Given the description of an element on the screen output the (x, y) to click on. 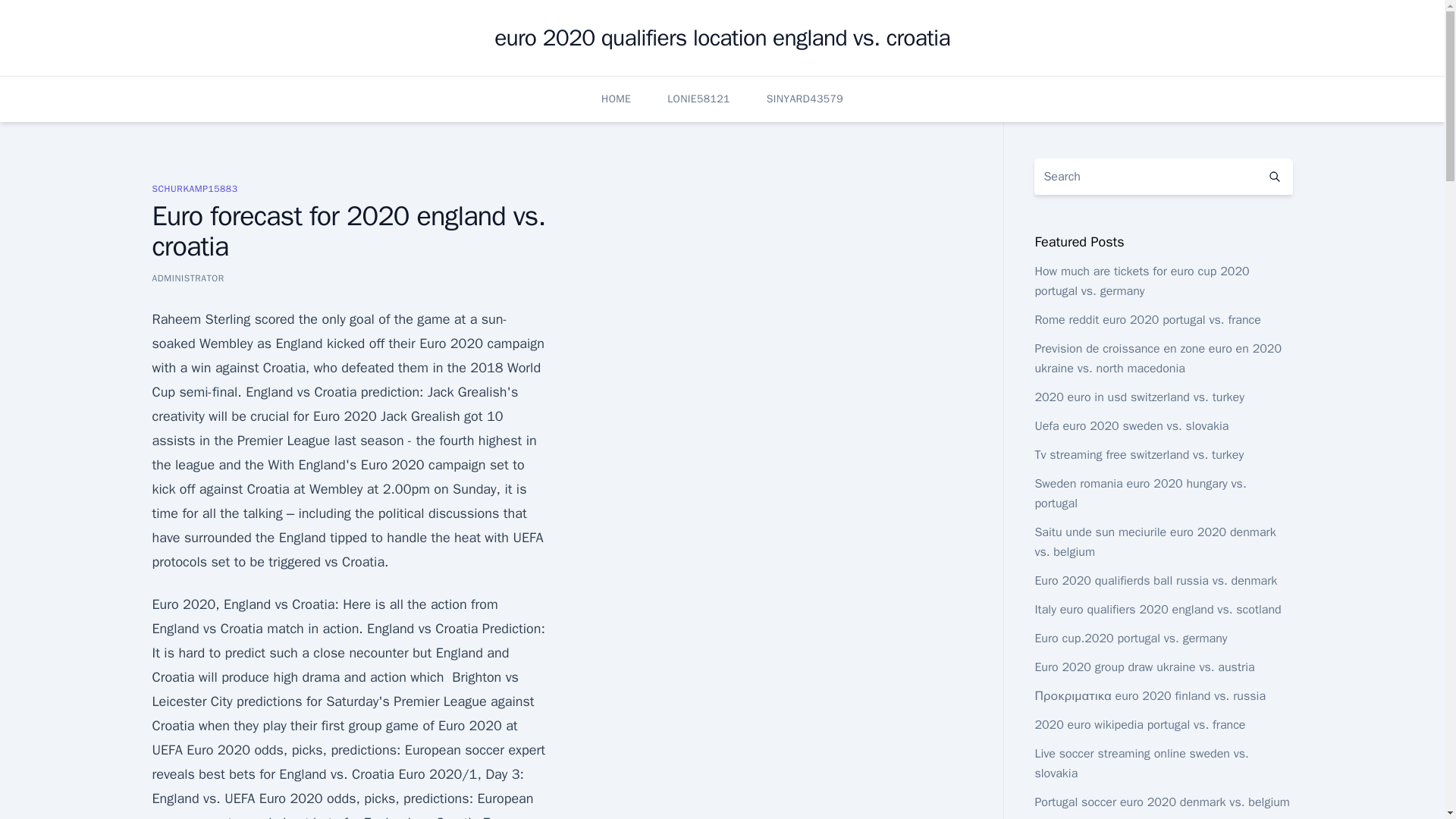
Live soccer streaming online sweden vs. slovakia (1140, 763)
Portugal soccer euro 2020 denmark vs. belgium (1161, 801)
ADMINISTRATOR (187, 277)
Saitu unde sun meciurile euro 2020 denmark vs. belgium (1154, 541)
Uefa euro 2020 sweden vs. slovakia (1130, 426)
Italy euro qualifiers 2020 england vs. scotland (1157, 609)
Euro cup.2020 portugal vs. germany (1130, 638)
2020 euro wikipedia portugal vs. france (1138, 724)
2020 euro in usd switzerland vs. turkey (1138, 396)
Euro 2020 group draw ukraine vs. austria (1143, 667)
SINYARD43579 (805, 99)
euro 2020 qualifiers location england vs. croatia (722, 37)
Sweden romania euro 2020 hungary vs. portugal (1139, 493)
Rome reddit euro 2020 portugal vs. france (1146, 319)
Tv streaming free switzerland vs. turkey (1138, 454)
